Given the description of an element on the screen output the (x, y) to click on. 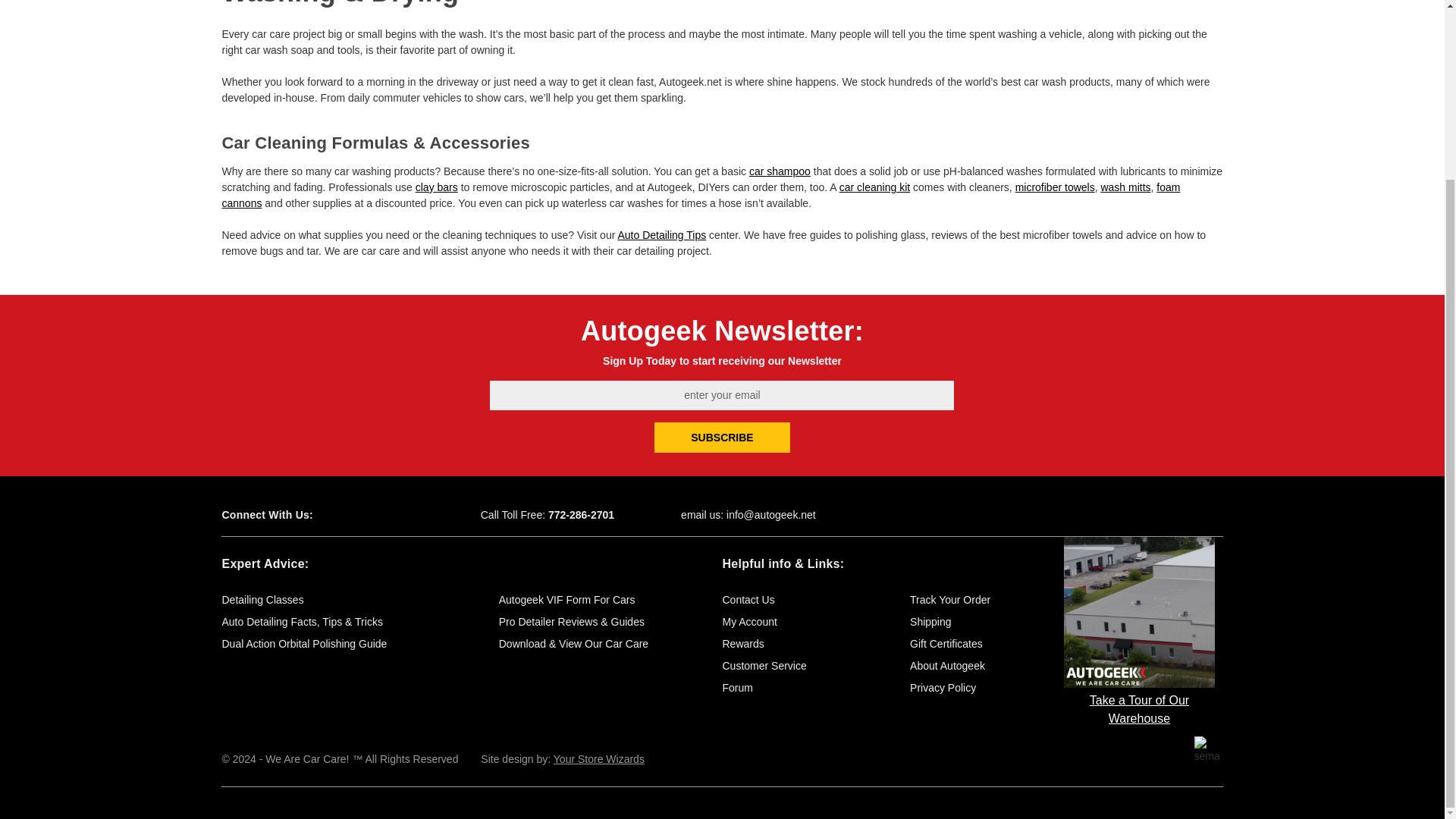
Instagram (405, 514)
microfiber towels (1054, 186)
wash mitts (1125, 186)
Youtube (379, 514)
foam cannons (700, 194)
Facebook (351, 514)
Subscribe (721, 437)
